Given the description of an element on the screen output the (x, y) to click on. 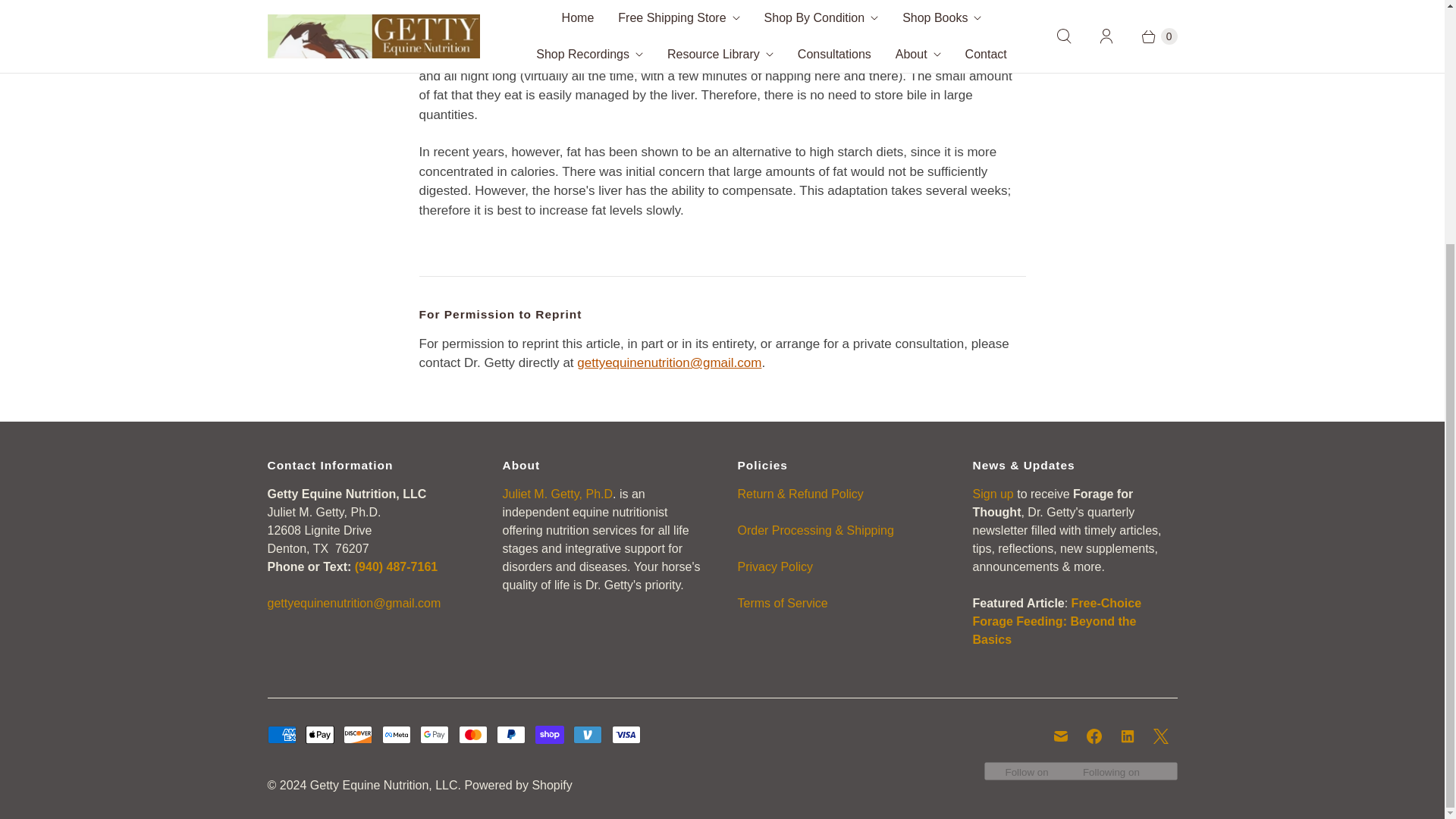
Google Pay (434, 734)
Mastercard (472, 734)
Visa (625, 734)
Discover (357, 734)
PayPal (510, 734)
Meta Pay (395, 734)
Shop Pay (549, 734)
Apple Pay (319, 734)
American Express (280, 734)
Terms of Service (781, 603)
